Given the description of an element on the screen output the (x, y) to click on. 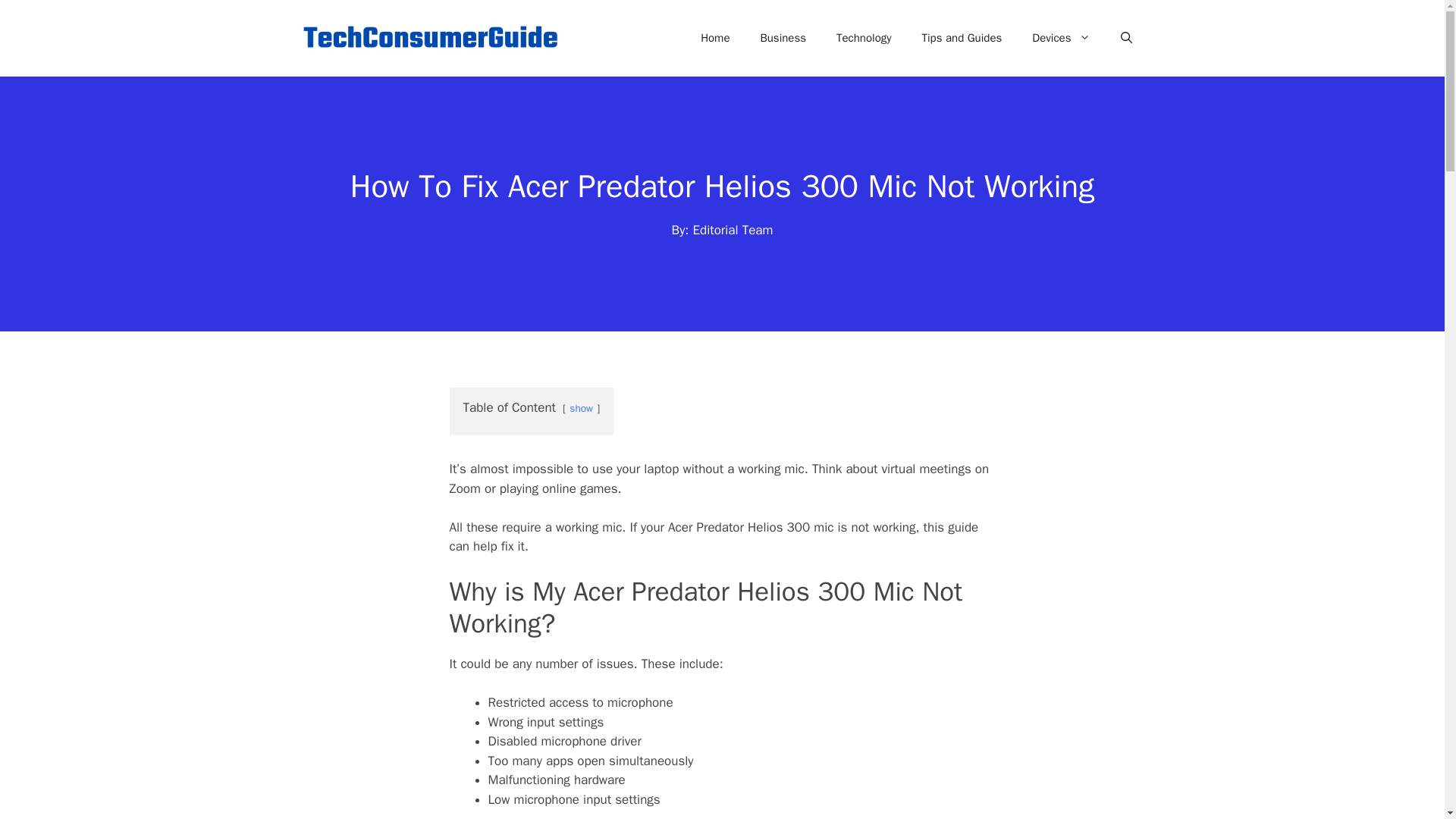
Home (714, 37)
Technology (864, 37)
Tips and Guides (962, 37)
show (580, 408)
Devices (1060, 37)
Business (782, 37)
